Given the description of an element on the screen output the (x, y) to click on. 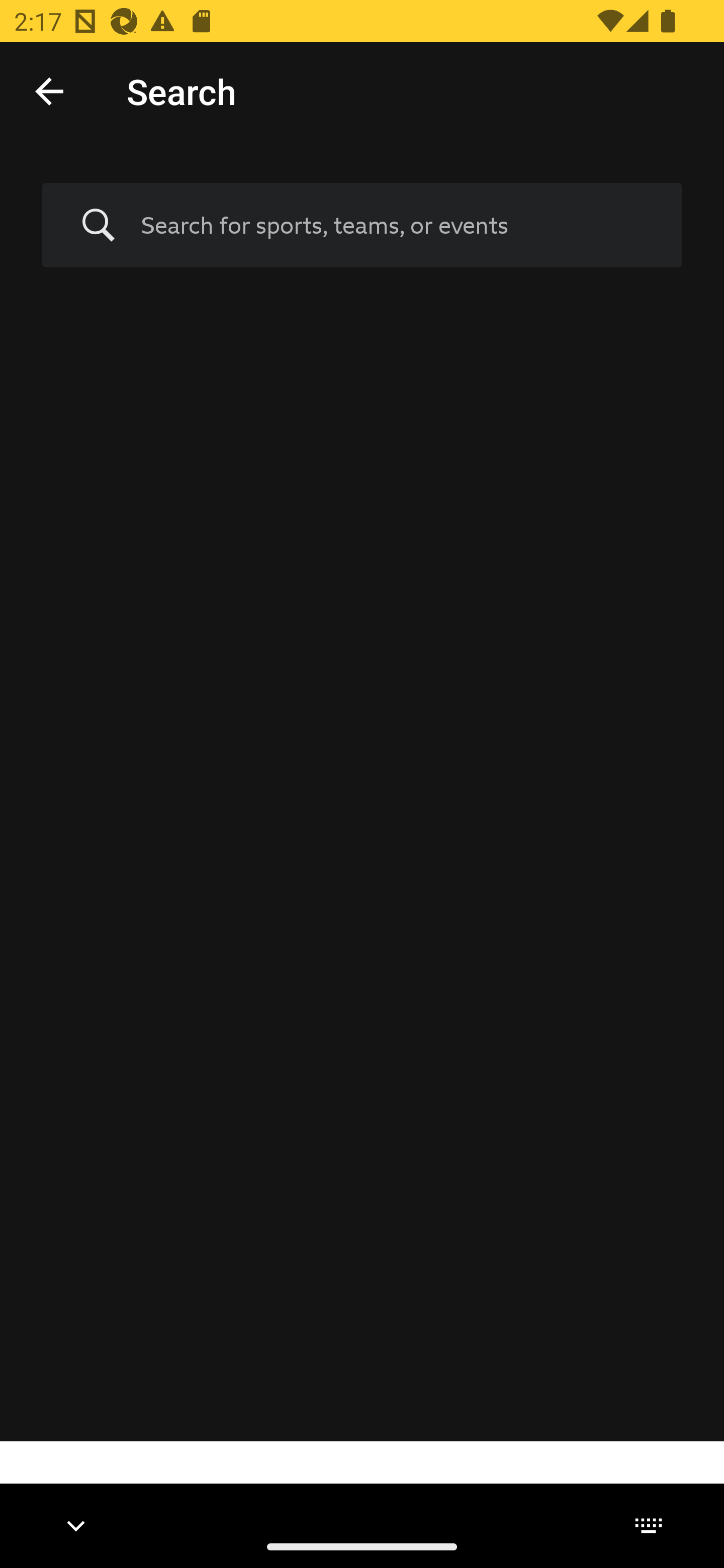
Done (49, 90)
Search for sports, teams, or events (361, 225)
Search for sports, teams, or events (396, 224)
